Given the description of an element on the screen output the (x, y) to click on. 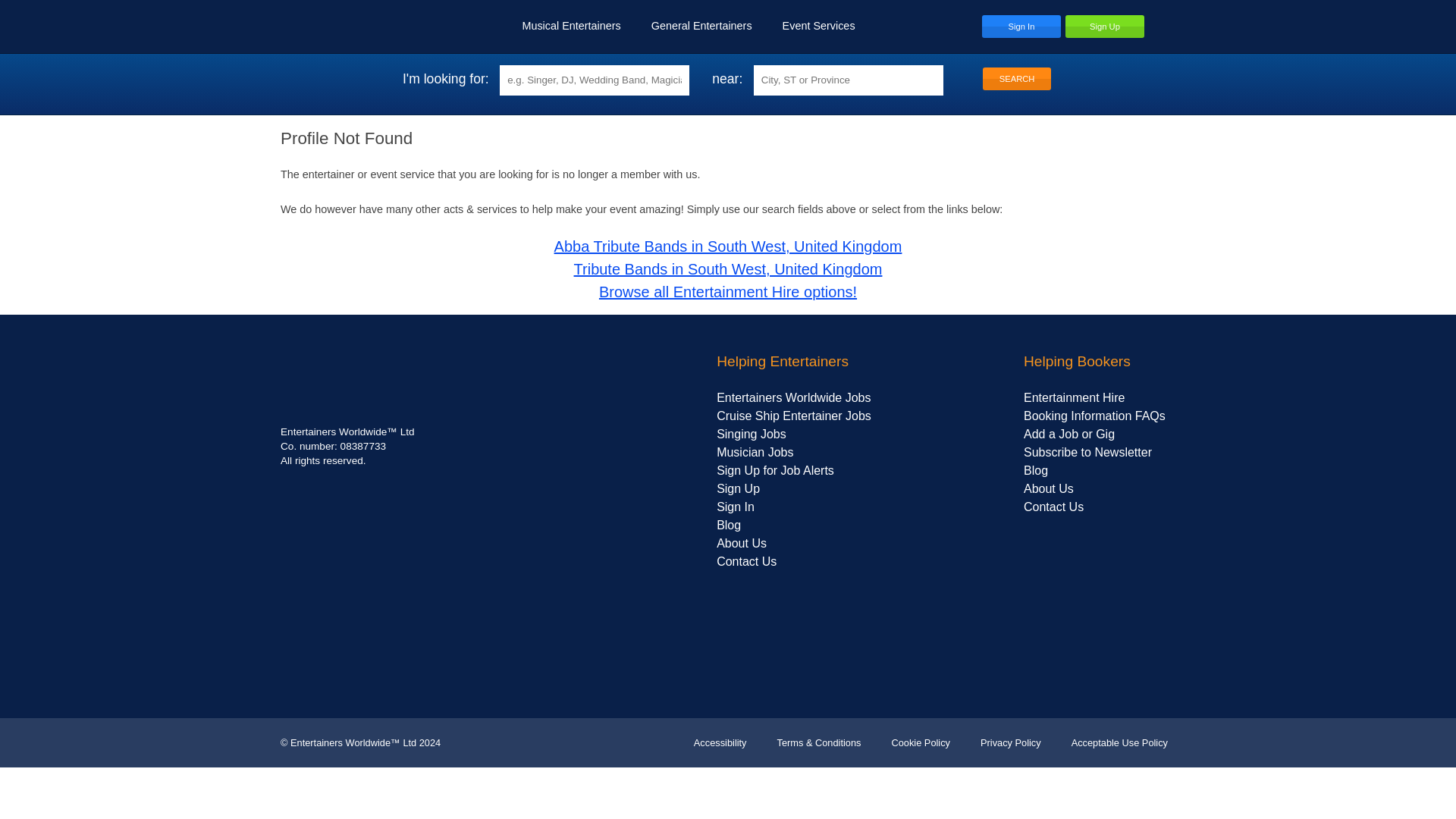
Sign In To Your Account (1021, 26)
Sign Up Now (1104, 26)
Sign In (1021, 26)
Entertainers Worldwide Ltd Homepage (341, 26)
Menu (1160, 25)
Sign Up (1104, 26)
